Given the description of an element on the screen output the (x, y) to click on. 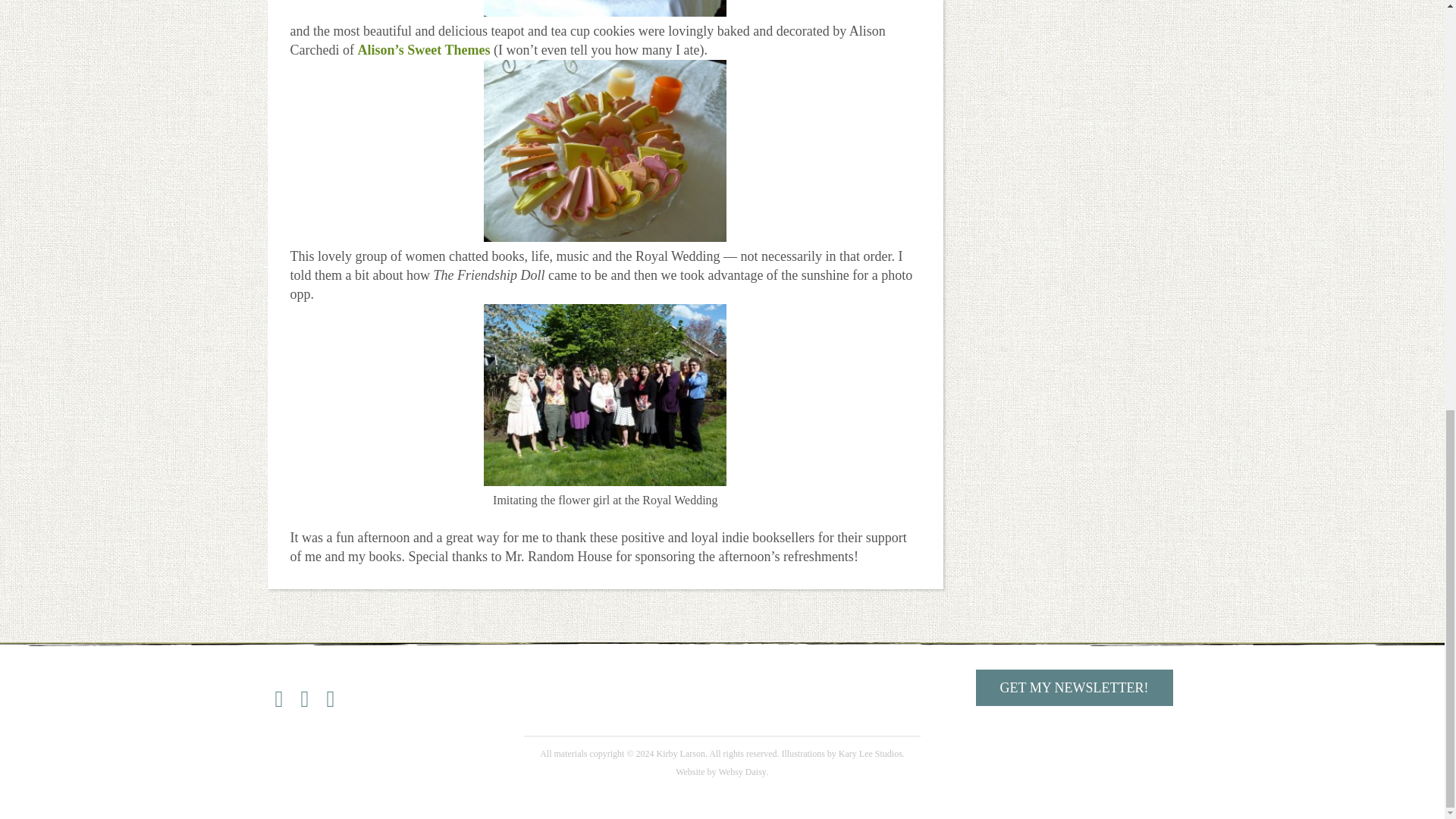
Websy Daisy (743, 771)
Kary Lee Studios (870, 753)
GET MY NEWSLETTER! (1073, 687)
